Given the description of an element on the screen output the (x, y) to click on. 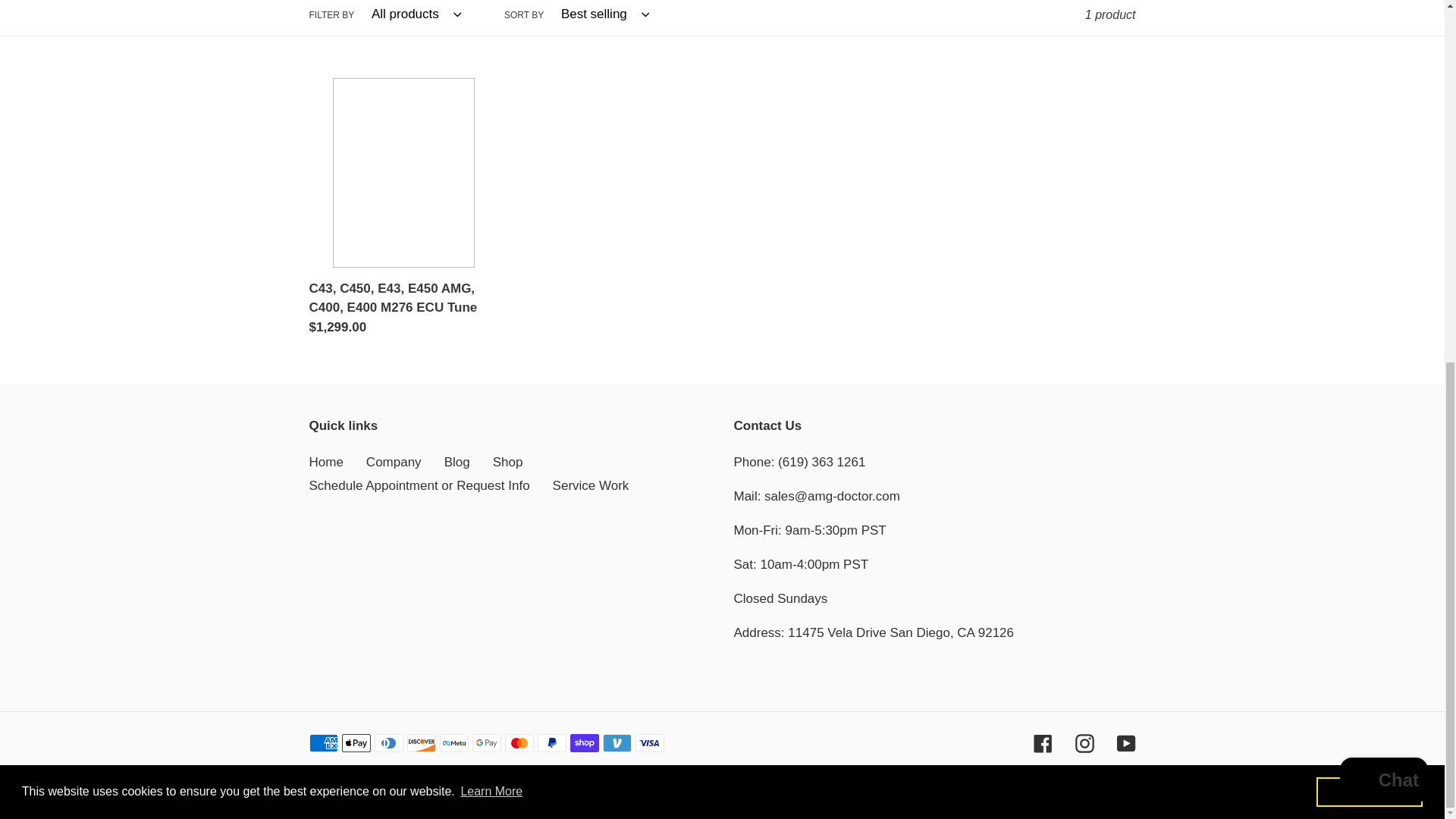
Got it! (1369, 145)
Learn More (491, 145)
Shopify online store chat (1383, 135)
